Given the description of an element on the screen output the (x, y) to click on. 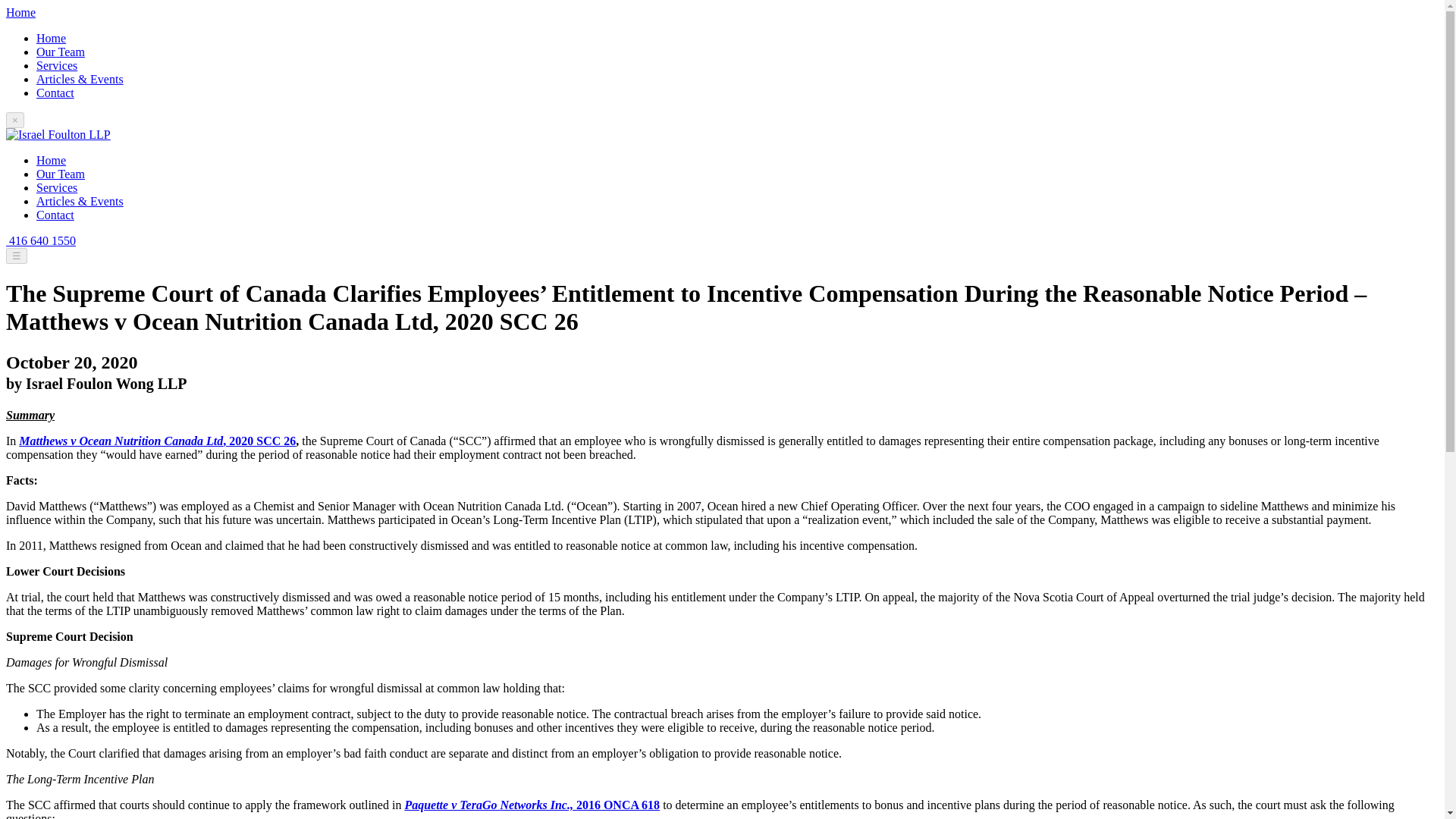
Matthews v Ocean Nutrition Canada Ltd, 2020 SCC 26 (156, 440)
Services (56, 65)
Services (56, 187)
Contact (55, 214)
Home (50, 38)
Contact (55, 92)
 416 640 1550 (40, 240)
Home (50, 160)
Our Team (60, 173)
Home (19, 11)
Paquette v TeraGo Networks Inc., 2016 ONCA 618 (531, 804)
Our Team (60, 51)
